Given the description of an element on the screen output the (x, y) to click on. 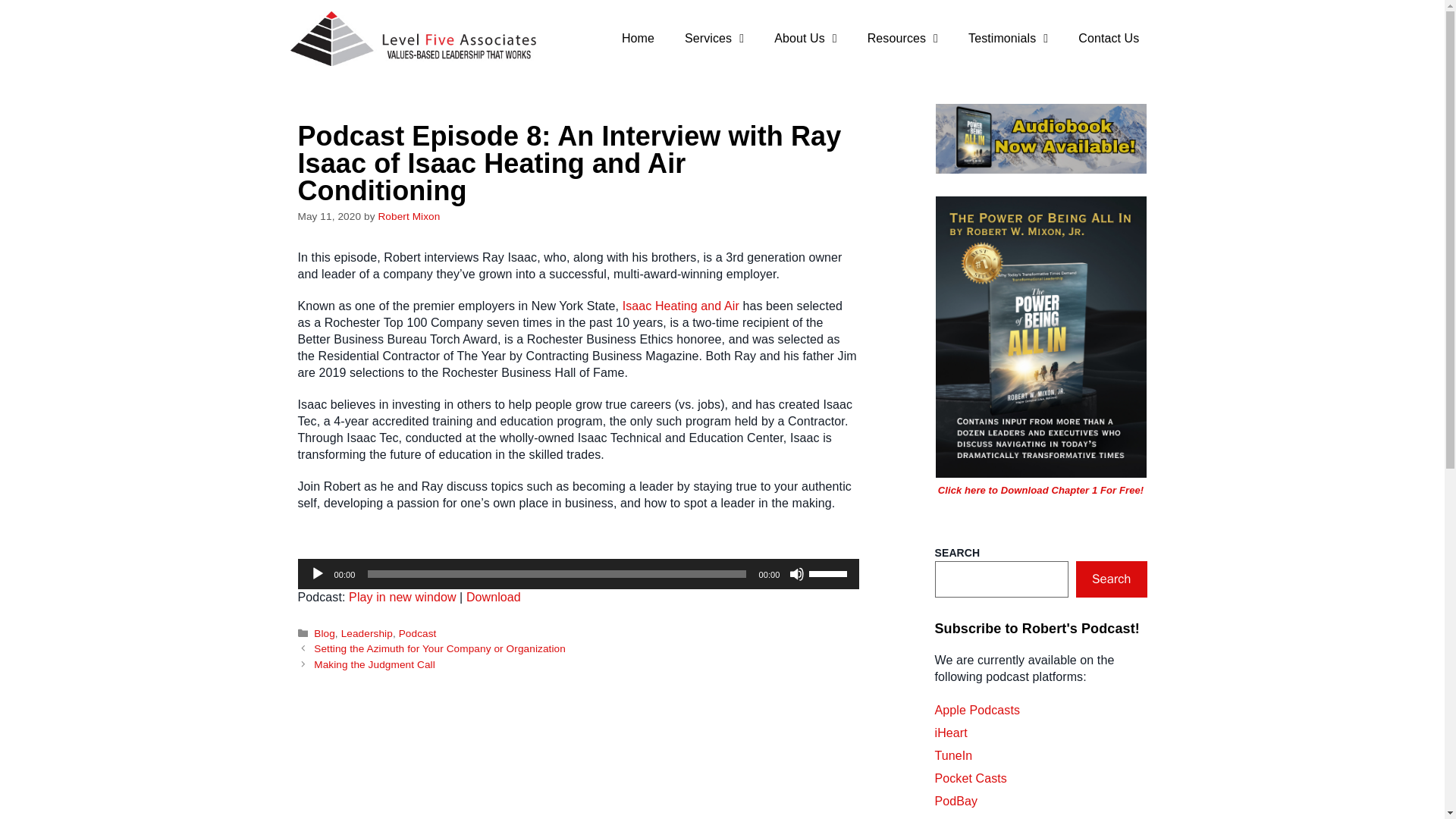
View all posts by Robert Mixon (408, 215)
Home (638, 38)
Play (316, 573)
Play in new window (402, 596)
Contact Us (1108, 38)
Resources (902, 38)
Mute (796, 573)
Download (493, 596)
Services (713, 38)
About Us (804, 38)
